Given the description of an element on the screen output the (x, y) to click on. 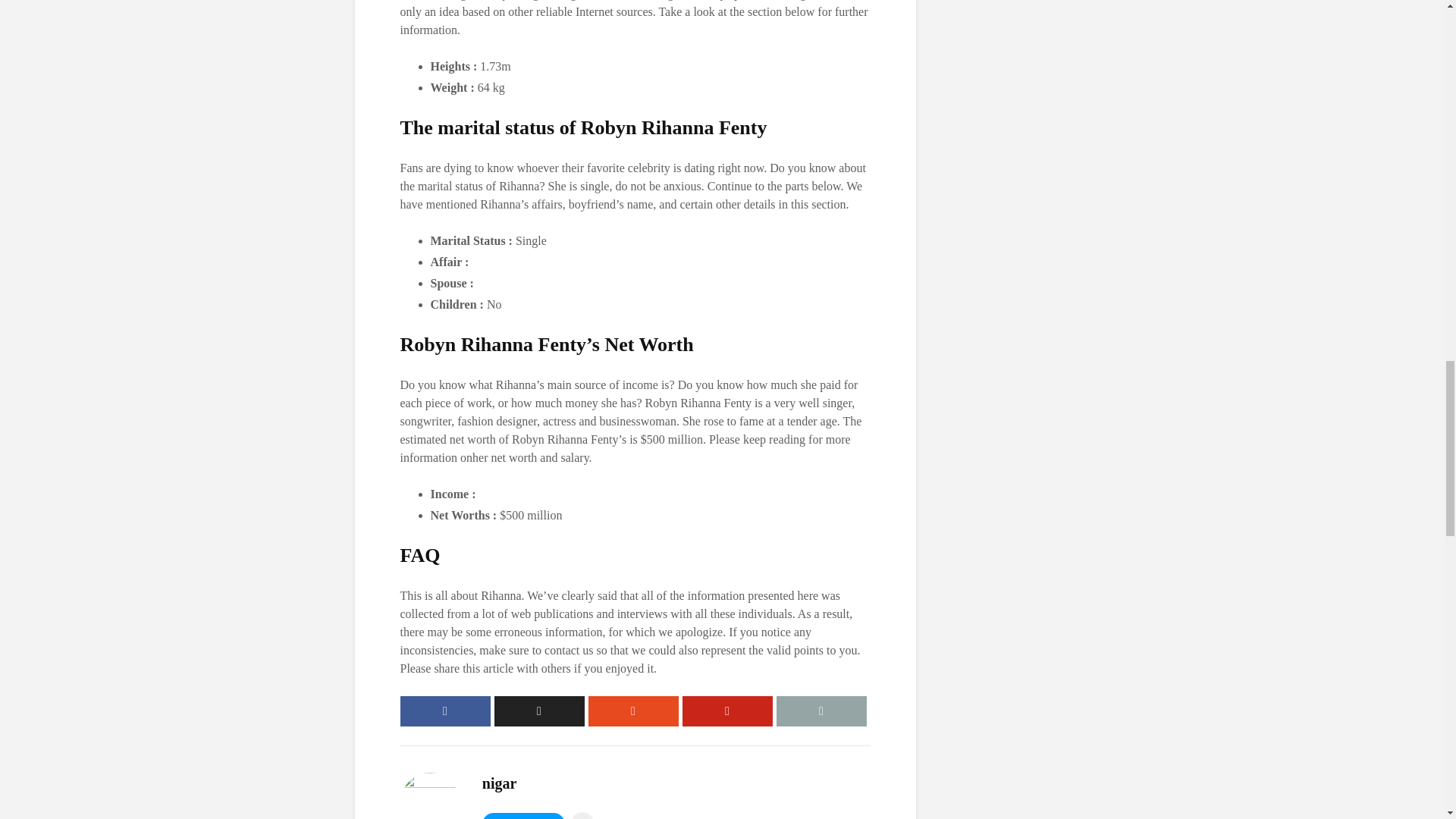
VIEW ALL POSTS (522, 816)
